Given the description of an element on the screen output the (x, y) to click on. 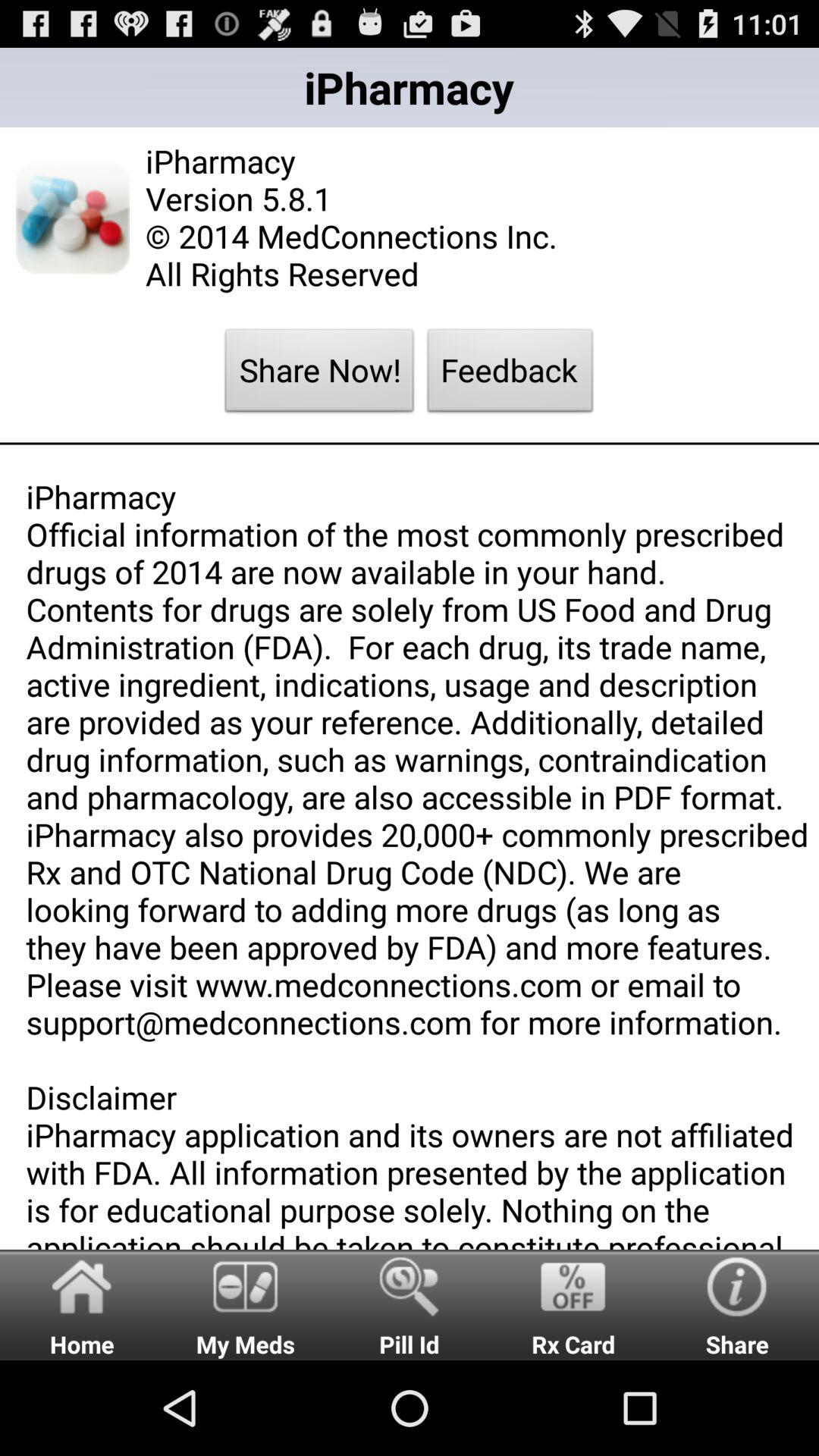
open icon below ipharmacy official information app (573, 1304)
